Given the description of an element on the screen output the (x, y) to click on. 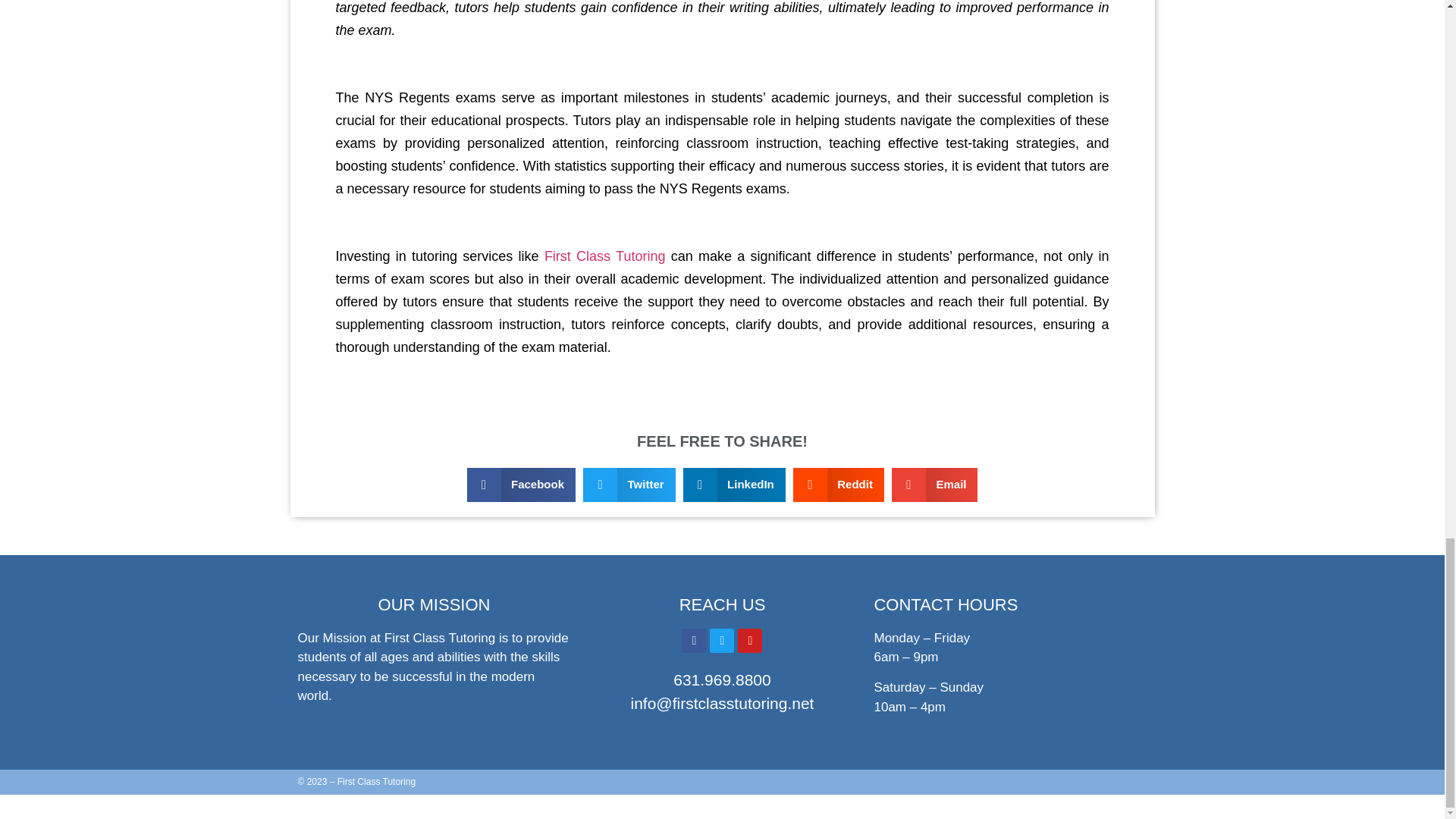
First Class Tutoring (604, 255)
